Given the description of an element on the screen output the (x, y) to click on. 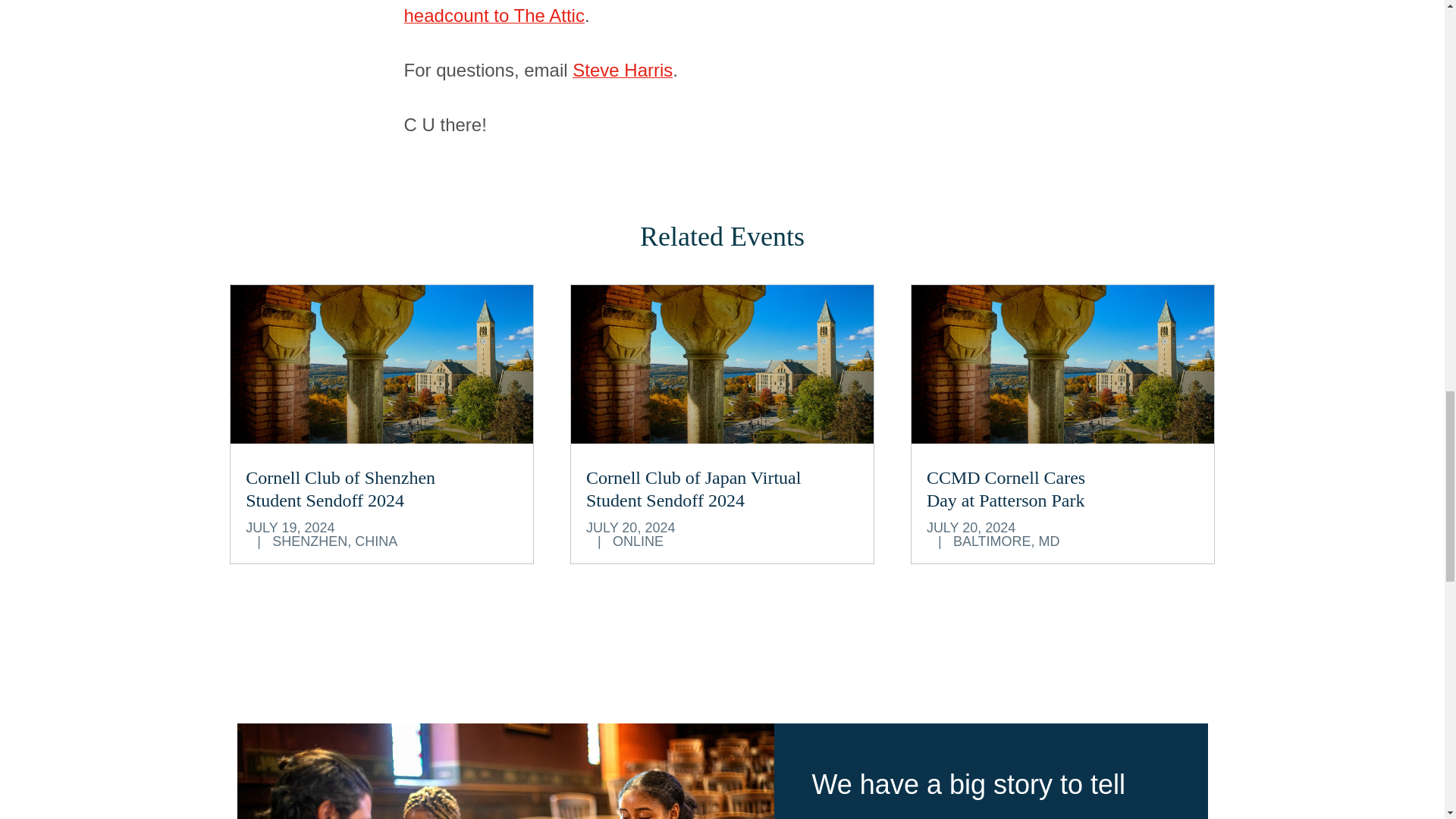
Steve Harris (1005, 488)
